Given the description of an element on the screen output the (x, y) to click on. 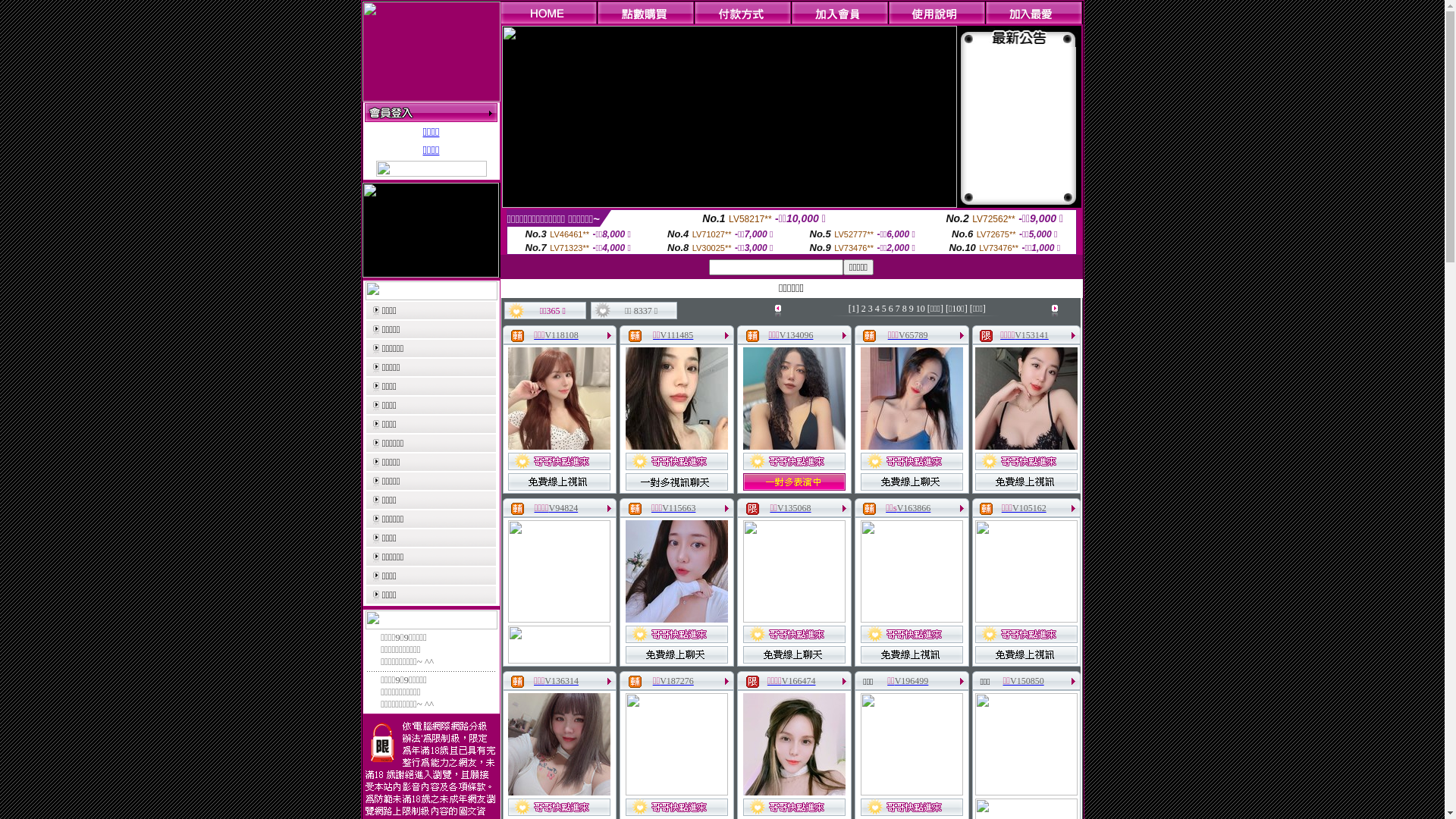
V65789 Element type: text (913, 334)
9 Element type: text (911, 308)
4 Element type: text (877, 308)
6 Element type: text (890, 308)
3 Element type: text (870, 308)
V118108 Element type: text (560, 334)
V196499 Element type: text (911, 680)
V187276 Element type: text (676, 680)
V150850 Element type: text (1027, 680)
7 Element type: text (897, 308)
V94824 Element type: text (562, 507)
10 Element type: text (920, 308)
2 Element type: text (863, 308)
V153141 Element type: text (1031, 334)
8 Element type: text (904, 308)
V115663 Element type: text (678, 507)
V166474 Element type: text (798, 680)
V111485 Element type: text (676, 334)
V105162 Element type: text (1029, 507)
V136314 Element type: text (561, 680)
V135068 Element type: text (794, 507)
V163866 Element type: text (914, 507)
5 Element type: text (883, 308)
V134096 Element type: text (796, 334)
